Given the description of an element on the screen output the (x, y) to click on. 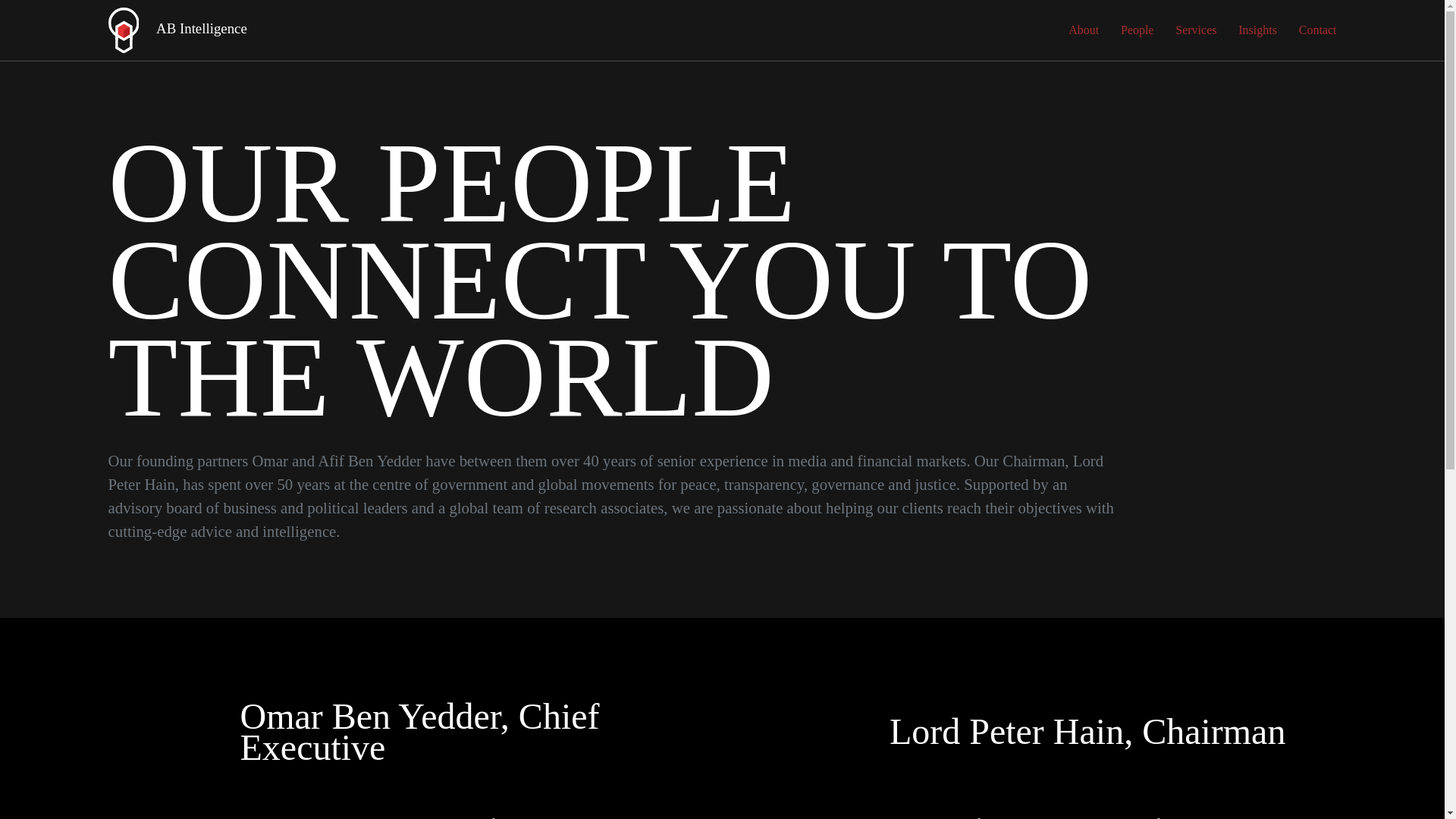
Services (1194, 30)
Insights (1257, 30)
AB Intelligence (176, 30)
People (1137, 30)
About (1083, 30)
Contact (1317, 30)
